Given the description of an element on the screen output the (x, y) to click on. 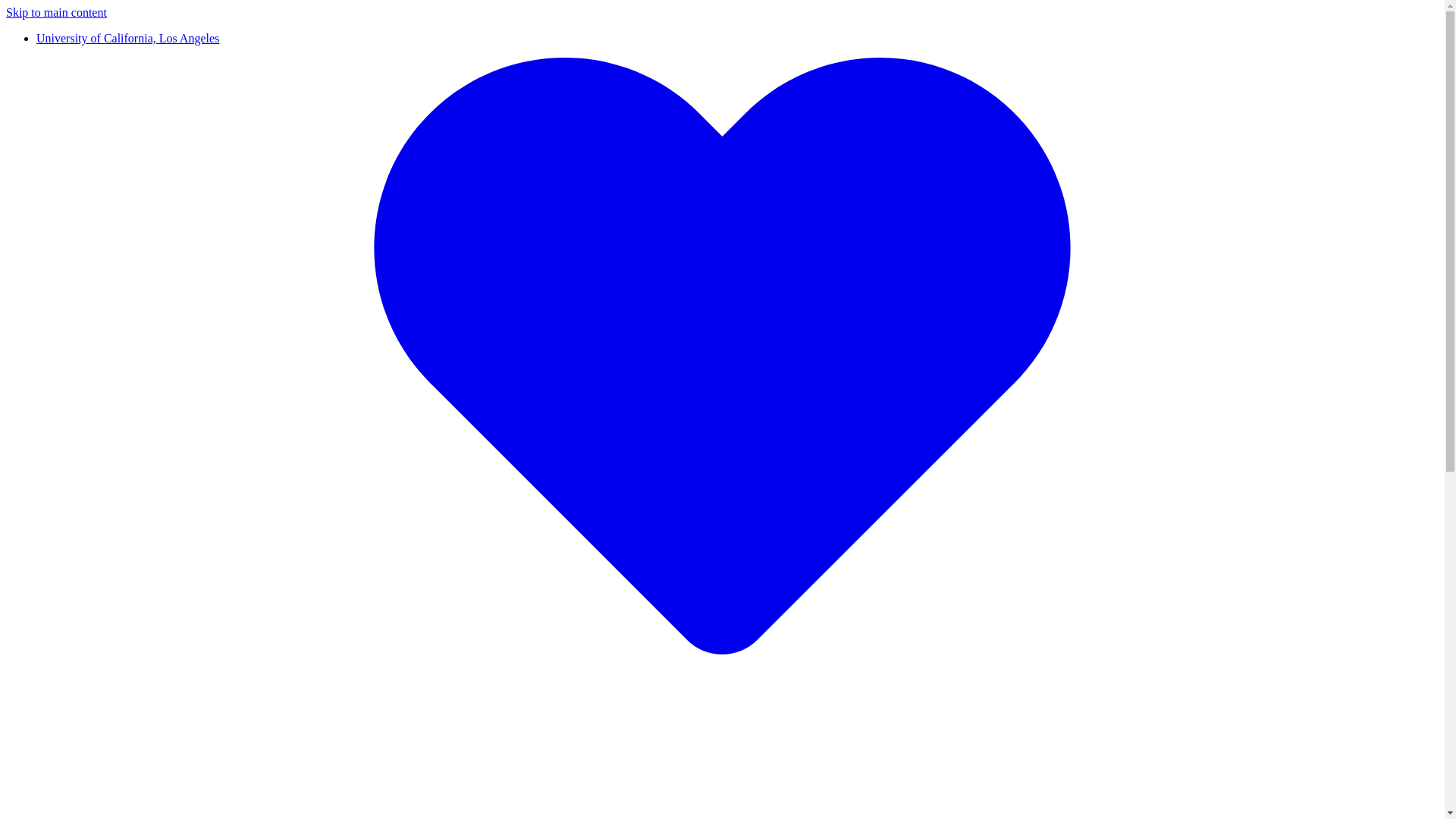
University of California, Los Angeles (127, 38)
Skip to main content (55, 11)
